Given the description of an element on the screen output the (x, y) to click on. 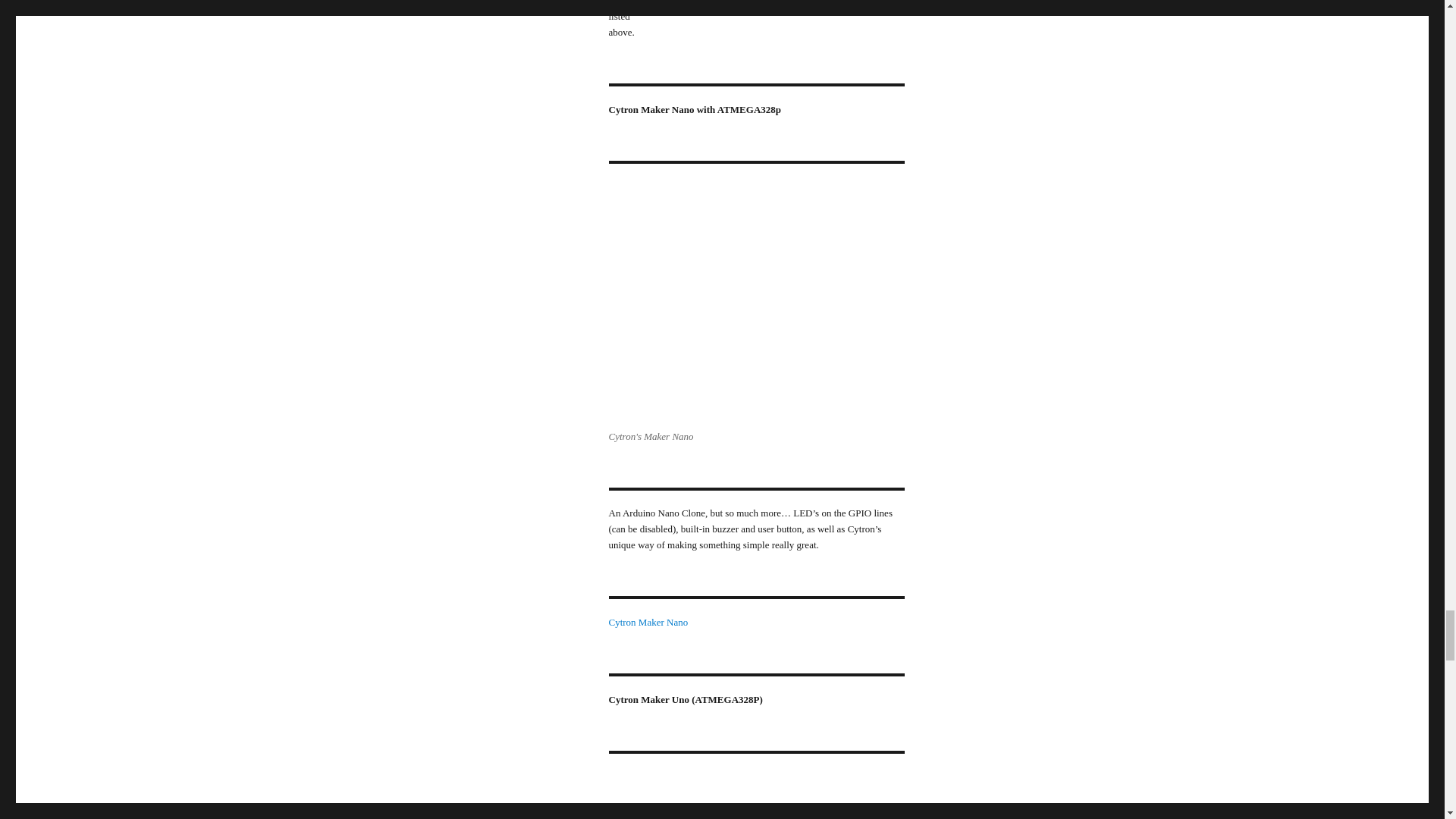
Cytron Maker Nano (647, 622)
